Given the description of an element on the screen output the (x, y) to click on. 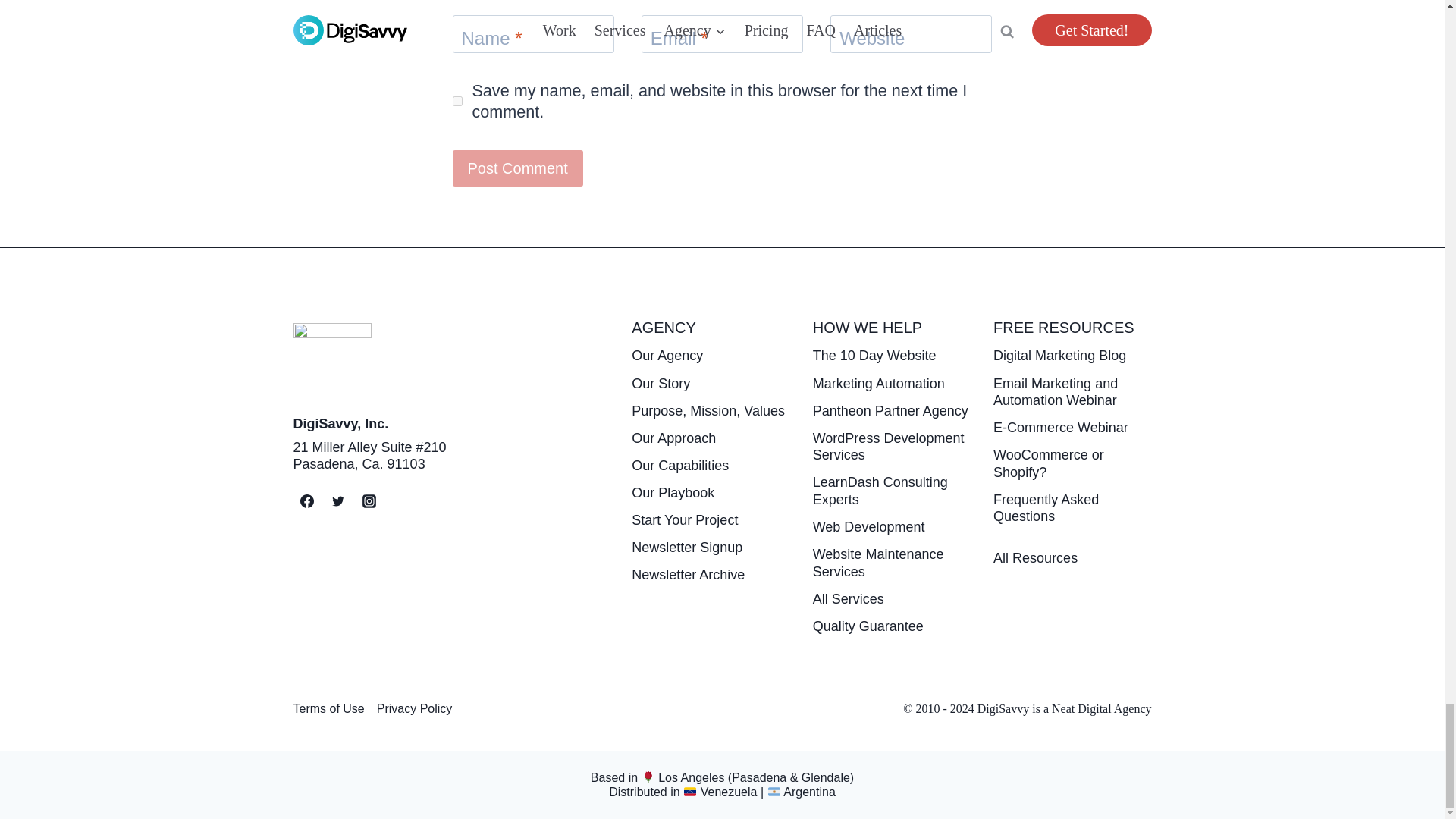
yes (456, 101)
Post Comment (516, 167)
